Given the description of an element on the screen output the (x, y) to click on. 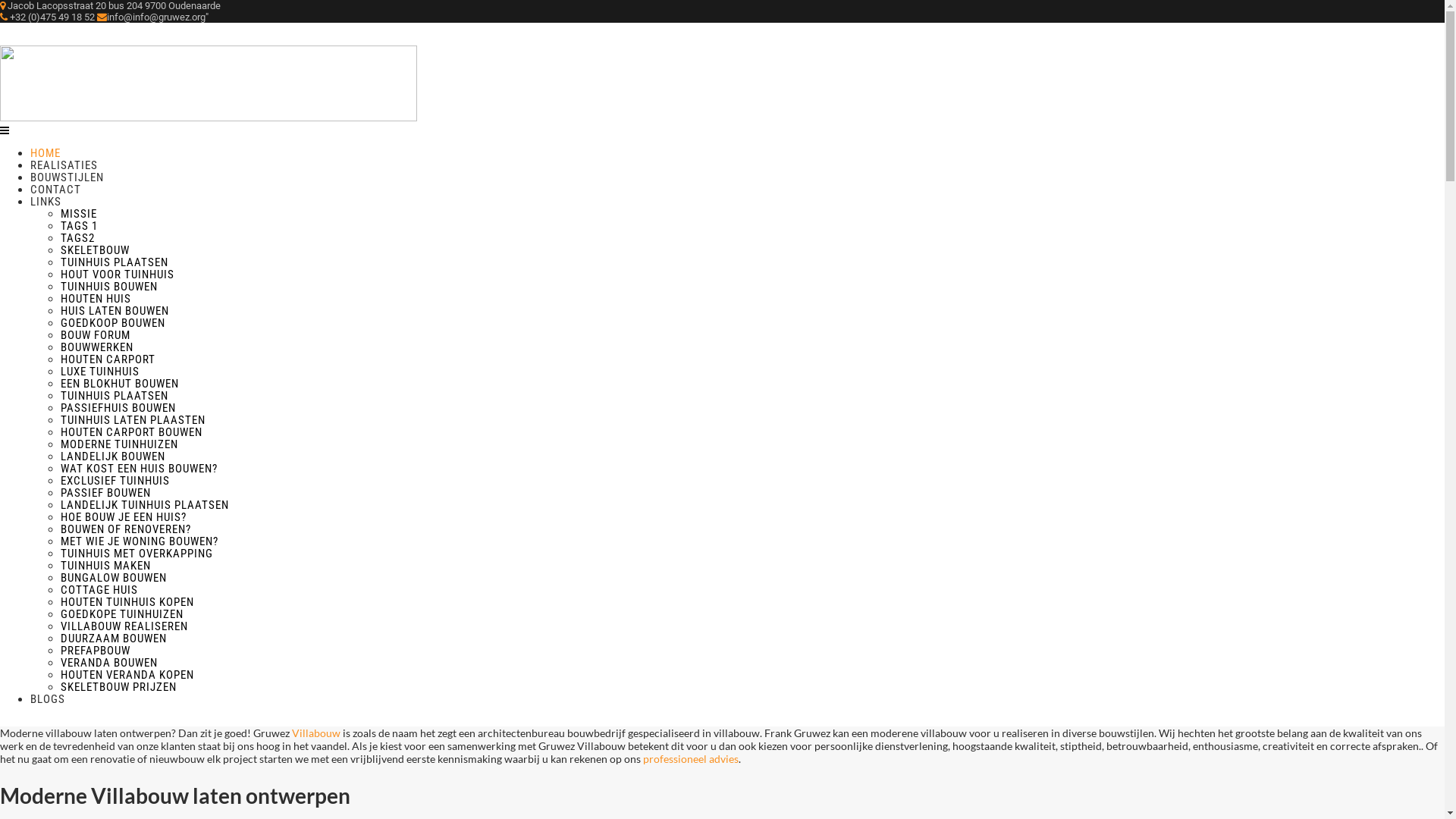
HOUT VOOR TUINHUIS Element type: text (117, 274)
VILLABOUW REALISEREN Element type: text (124, 626)
HOUTEN CARPORT Element type: text (107, 359)
PREFAPBOUW Element type: text (95, 650)
HOUTEN HUIS Element type: text (95, 298)
TUINHUIS PLAATSEN Element type: text (114, 395)
PASSIEFHUIS BOUWEN Element type: text (117, 407)
VERANDA BOUWEN Element type: text (108, 662)
professioneel advies Element type: text (690, 758)
TUINHUIS BOUWEN Element type: text (108, 286)
WAT KOST EEN HUIS BOUWEN? Element type: text (138, 468)
TAGS 1 Element type: text (78, 225)
HOUTEN TUINHUIS KOPEN Element type: text (127, 601)
GOEDKOOP BOUWEN Element type: text (112, 322)
EEN BLOKHUT BOUWEN Element type: text (119, 383)
BOUWEN OF RENOVEREN? Element type: text (125, 529)
SKELETBOUW Element type: text (94, 250)
LINKS Element type: text (45, 201)
PASSIEF BOUWEN Element type: text (105, 492)
BUNGALOW BOUWEN Element type: text (113, 577)
BLOGS Element type: text (47, 699)
Modern Villabouw Element type: hover (208, 116)
BOUWSTIJLEN Element type: text (66, 177)
MET WIE JE WONING BOUWEN? Element type: text (139, 541)
MISSIE Element type: text (78, 213)
TUINHUIS PLAATSEN Element type: text (114, 262)
GOEDKOPE TUINHUIZEN Element type: text (121, 614)
Villabouw Element type: text (316, 732)
MODERNE TUINHUIZEN Element type: text (119, 444)
TUINHUIS MET OVERKAPPING Element type: text (136, 553)
LUXE TUINHUIS Element type: text (99, 371)
info@info@gruwez.org" Element type: text (152, 16)
COTTAGE HUIS Element type: text (99, 589)
DUURZAAM BOUWEN Element type: text (113, 638)
HUIS LATEN BOUWEN Element type: text (114, 310)
BOUWWERKEN Element type: text (96, 347)
TAGS2 Element type: text (77, 237)
HOE BOUW JE EEN HUIS? Element type: text (123, 517)
TUINHUIS MAKEN Element type: text (105, 565)
LANDELIJK BOUWEN Element type: text (112, 456)
CONTACT Element type: text (55, 189)
SKELETBOUW PRIJZEN Element type: text (118, 686)
HOUTEN VERANDA KOPEN Element type: text (127, 674)
EXCLUSIEF TUINHUIS Element type: text (114, 480)
REALISATIES Element type: text (63, 165)
LANDELIJK TUINHUIS PLAATSEN Element type: text (144, 504)
TUINHUIS LATEN PLAASTEN Element type: text (132, 419)
BOUW FORUM Element type: text (95, 335)
HOME Element type: text (45, 153)
HOUTEN CARPORT BOUWEN Element type: text (131, 432)
